Given the description of an element on the screen output the (x, y) to click on. 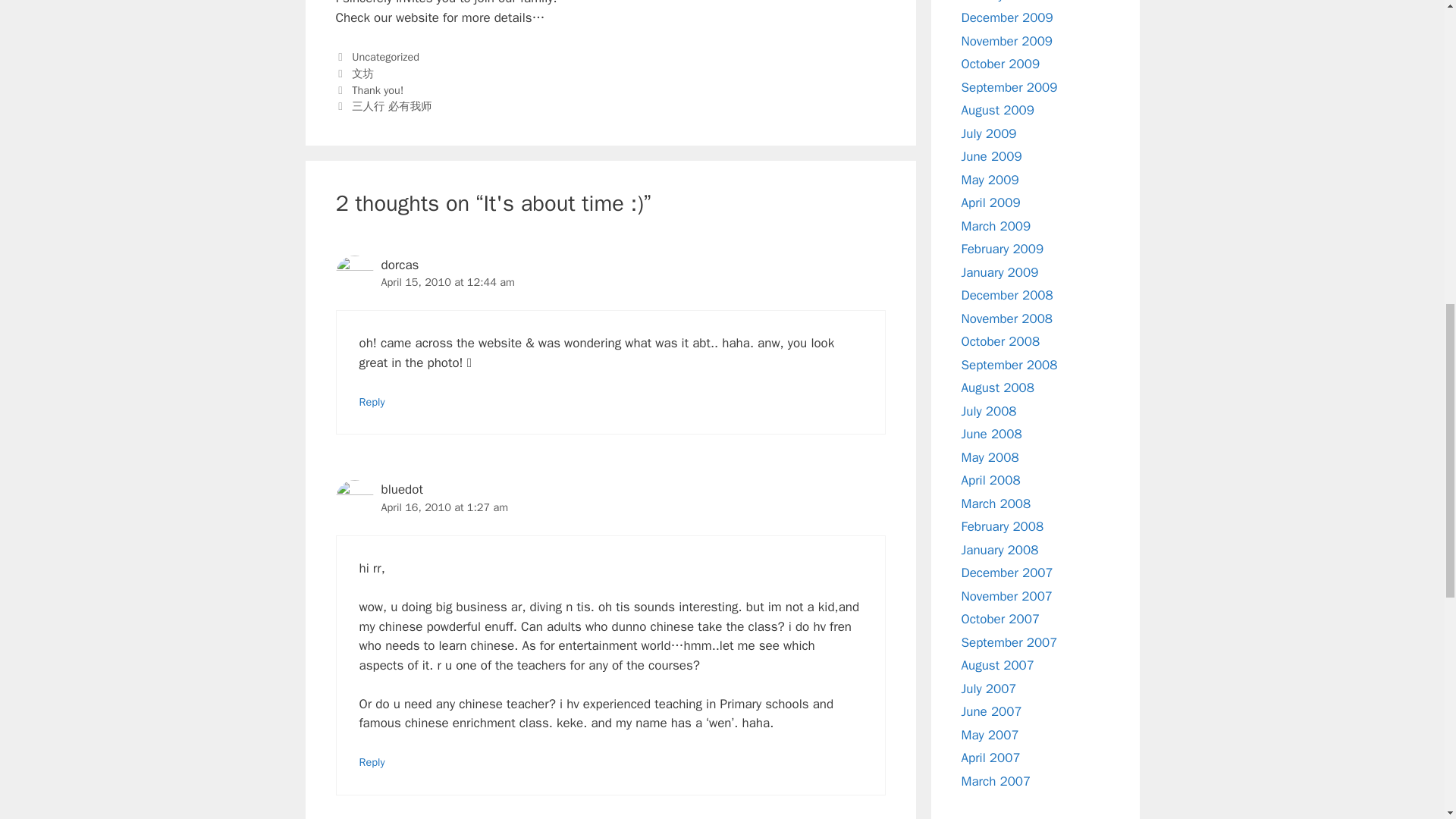
Next (382, 106)
April 16, 2010 at 1:27 am (444, 507)
Reply (372, 401)
Reply (372, 762)
April 15, 2010 at 12:44 am (446, 282)
Uncategorized (385, 56)
Previous (368, 90)
Thank you! (377, 90)
